Given the description of an element on the screen output the (x, y) to click on. 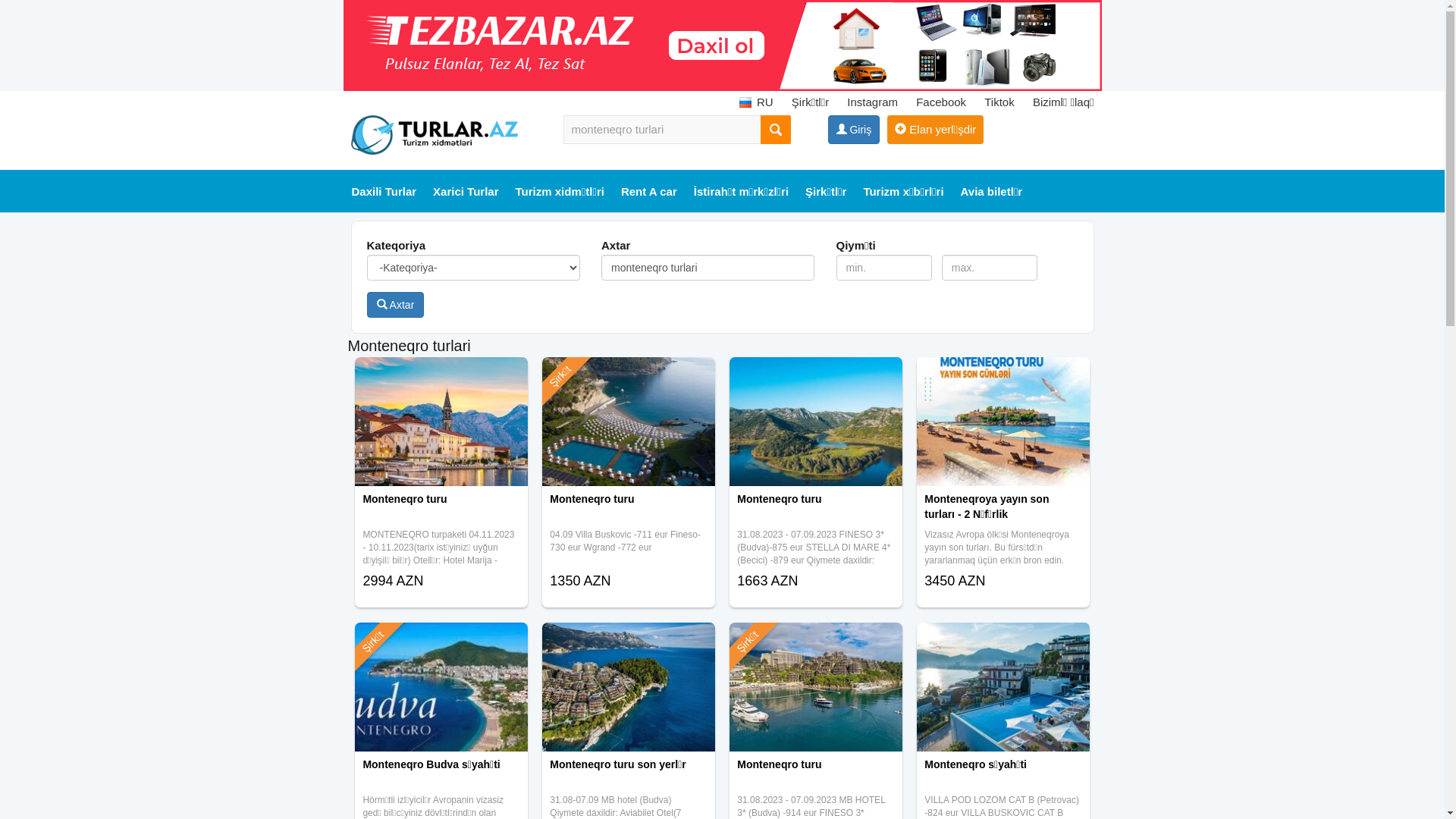
Axtar Element type: text (395, 304)
Tiktok Element type: text (998, 101)
Elanlar sayti, Pulsuz Elanlar alqi satqi sayti Element type: hover (721, 45)
Monteneqro turu Element type: text (815, 776)
Monteneqro turu Element type: text (627, 511)
Facebook Element type: text (941, 101)
Monteneqro turu Element type: hover (815, 376)
Xarici Turlar Element type: text (465, 191)
Monteneqro turu Element type: text (440, 511)
Monteneqro turu Element type: hover (628, 376)
Monteneqro turu Element type: hover (440, 376)
min. Element type: hover (884, 267)
Monteneqro turu Element type: text (815, 511)
Daxili Turlar Element type: text (383, 191)
Instagram Element type: text (872, 101)
  Element type: text (774, 129)
Monteneqro turu Element type: hover (815, 641)
Rent A car Element type: text (648, 191)
max. Element type: hover (989, 267)
RU Element type: text (756, 101)
